Given the description of an element on the screen output the (x, y) to click on. 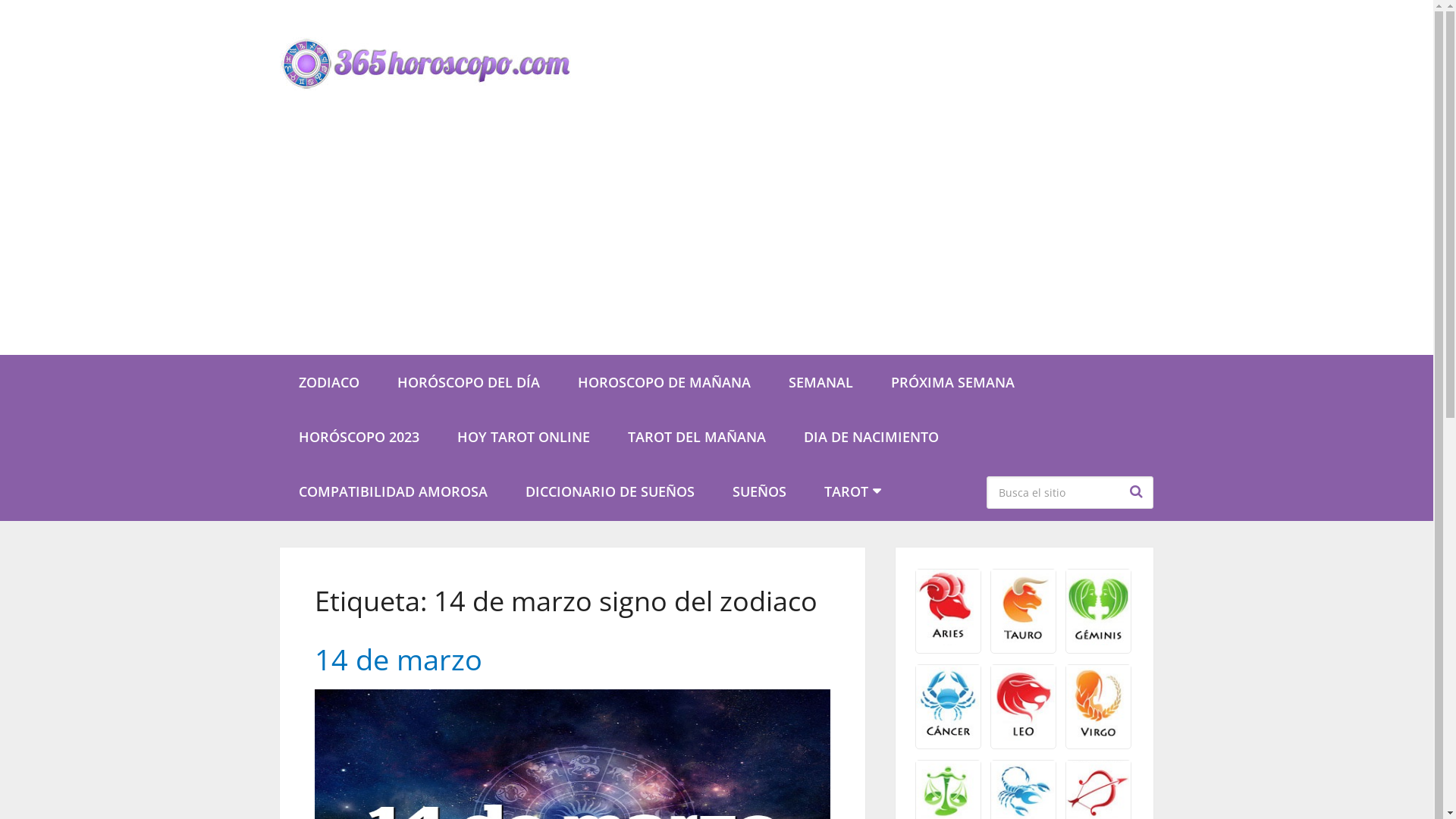
ZODIACO Element type: text (328, 381)
TAROT Element type: text (851, 491)
SEMANAL Element type: text (820, 381)
Advertisement Element type: hover (716, 240)
14 de marzo Element type: text (398, 658)
COMPATIBILIDAD AMOROSA Element type: text (392, 491)
Virgo Element type: hover (1098, 735)
Tauro Element type: hover (1023, 639)
Leo Element type: hover (1023, 735)
Buscar Element type: text (1138, 491)
Aries Element type: hover (948, 639)
HOY TAROT ONLINE Element type: text (523, 436)
DIA DE NACIMIENTO Element type: text (870, 436)
